Given the description of an element on the screen output the (x, y) to click on. 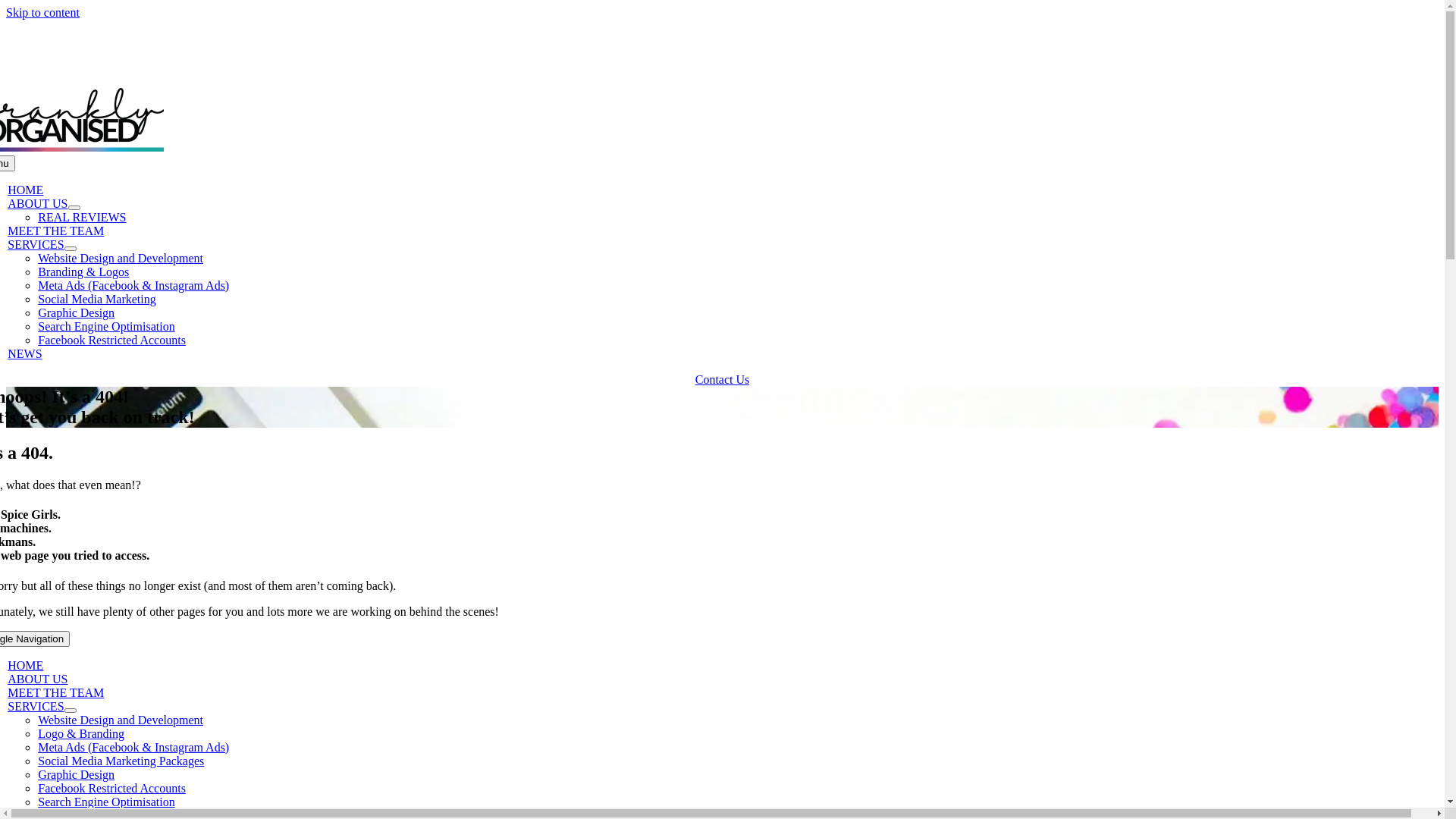
Branding & Logos Element type: text (82, 271)
Logo & Branding Element type: text (80, 733)
ABOUT US Element type: text (37, 678)
SERVICES Element type: text (35, 244)
Social Media Marketing Packages Element type: text (120, 760)
Graphic Design Element type: text (75, 312)
Social Media Marketing Element type: text (96, 298)
Meta Ads (Facebook & Instagram Ads) Element type: text (133, 285)
HOME Element type: text (25, 189)
Skip to content Element type: text (42, 12)
Meta Ads (Facebook & Instagram Ads) Element type: text (133, 746)
Website Design and Development Element type: text (120, 257)
REAL REVIEWS Element type: text (81, 216)
Contact Us Element type: text (722, 379)
Search Engine Optimisation Element type: text (105, 801)
MEET THE TEAM Element type: text (55, 230)
ABOUT US Element type: text (37, 203)
Graphic Design Element type: text (75, 774)
NEWS Element type: text (24, 353)
Search Engine Optimisation Element type: text (105, 326)
Facebook Restricted Accounts Element type: text (111, 787)
Facebook Restricted Accounts Element type: text (111, 339)
HOME Element type: text (25, 664)
Website Design and Development Element type: text (120, 719)
0468 375 883 Element type: text (49, 65)
MEET THE TEAM Element type: text (55, 692)
SERVICES Element type: text (35, 705)
